Given the description of an element on the screen output the (x, y) to click on. 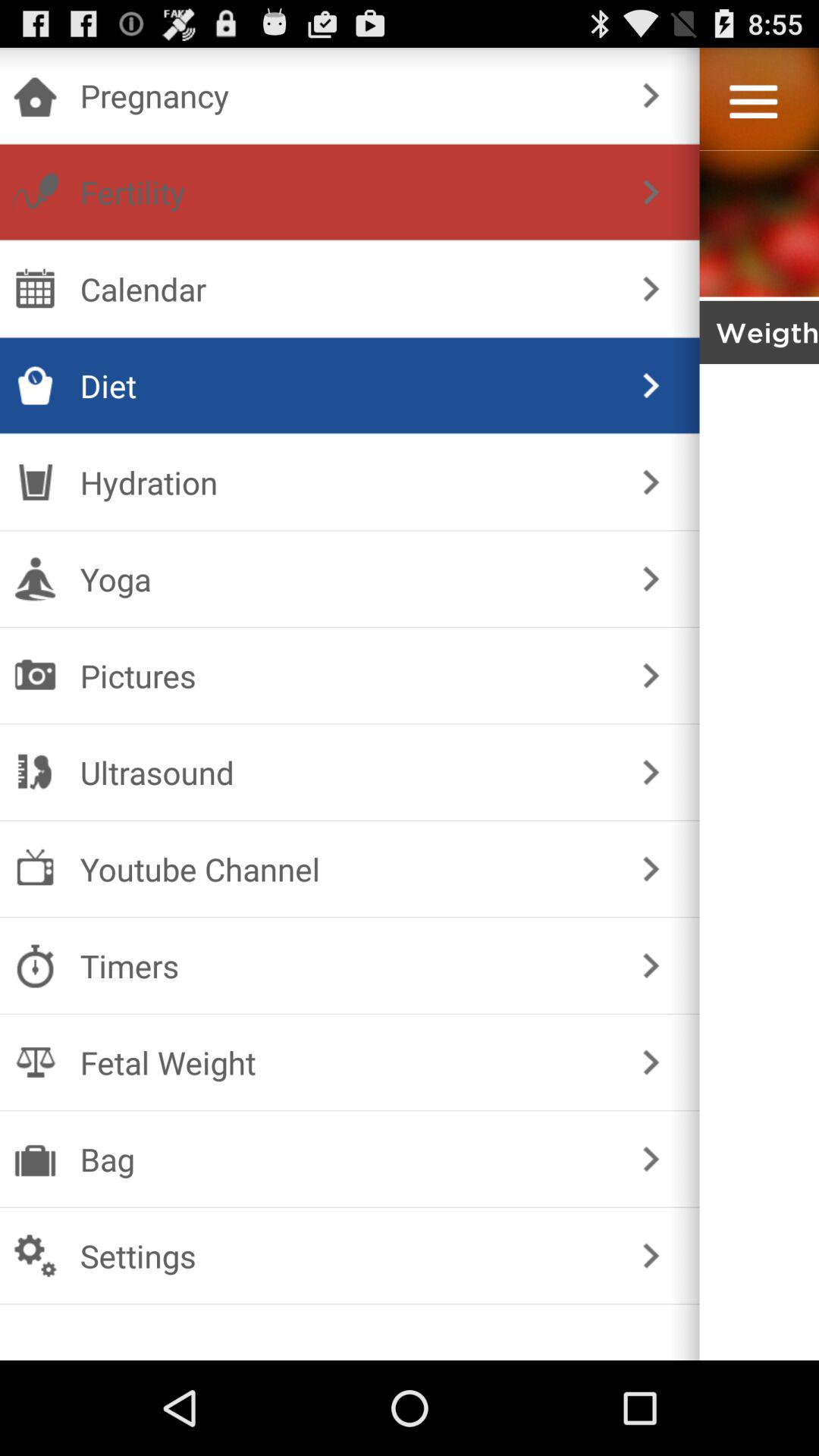
turn on youtube channel item (346, 868)
